Given the description of an element on the screen output the (x, y) to click on. 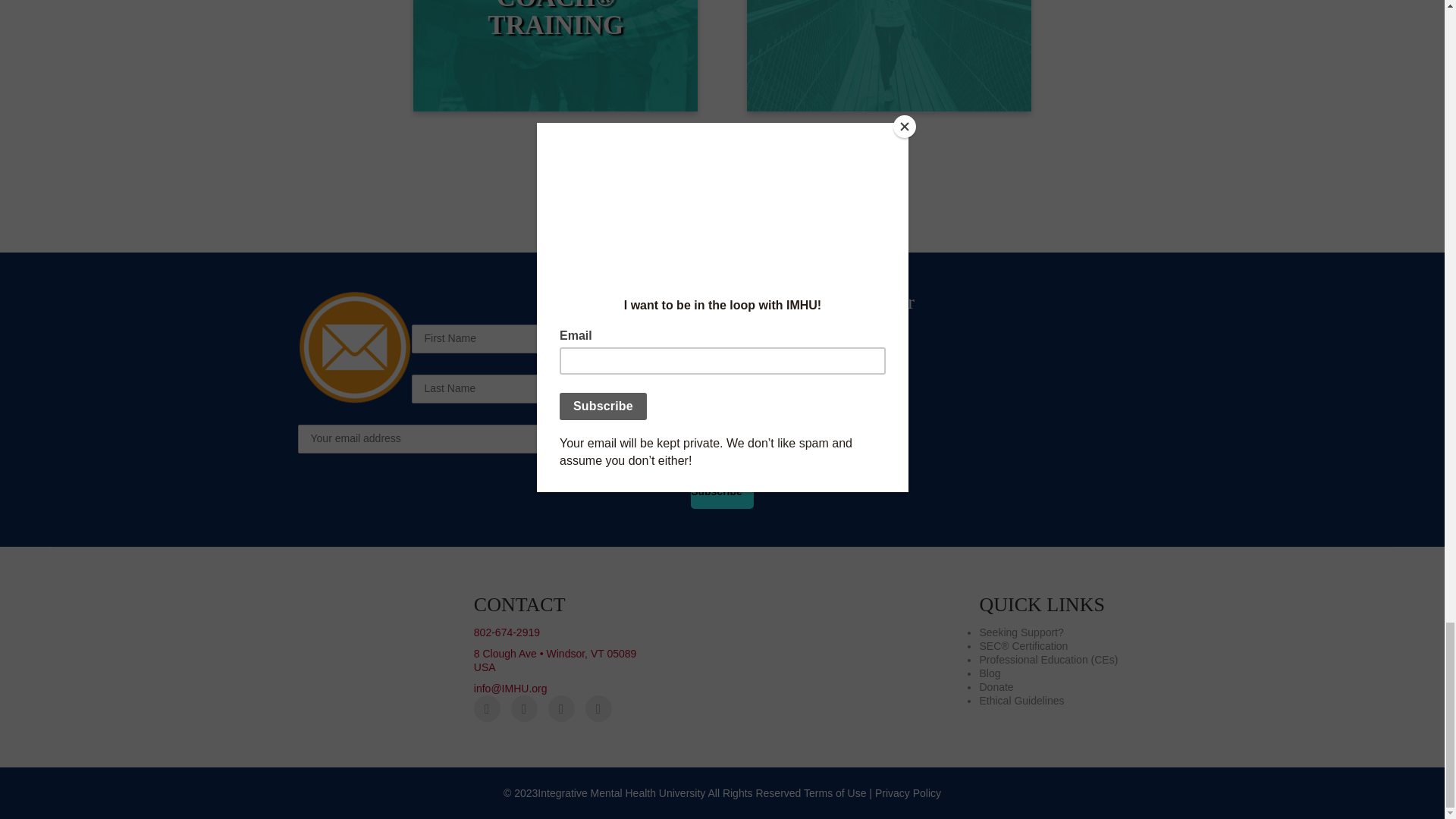
802-674-2919 (507, 632)
Subscribe (722, 491)
VIEW ALL IMHU COURSES (888, 55)
Subscribe (722, 491)
